Given the description of an element on the screen output the (x, y) to click on. 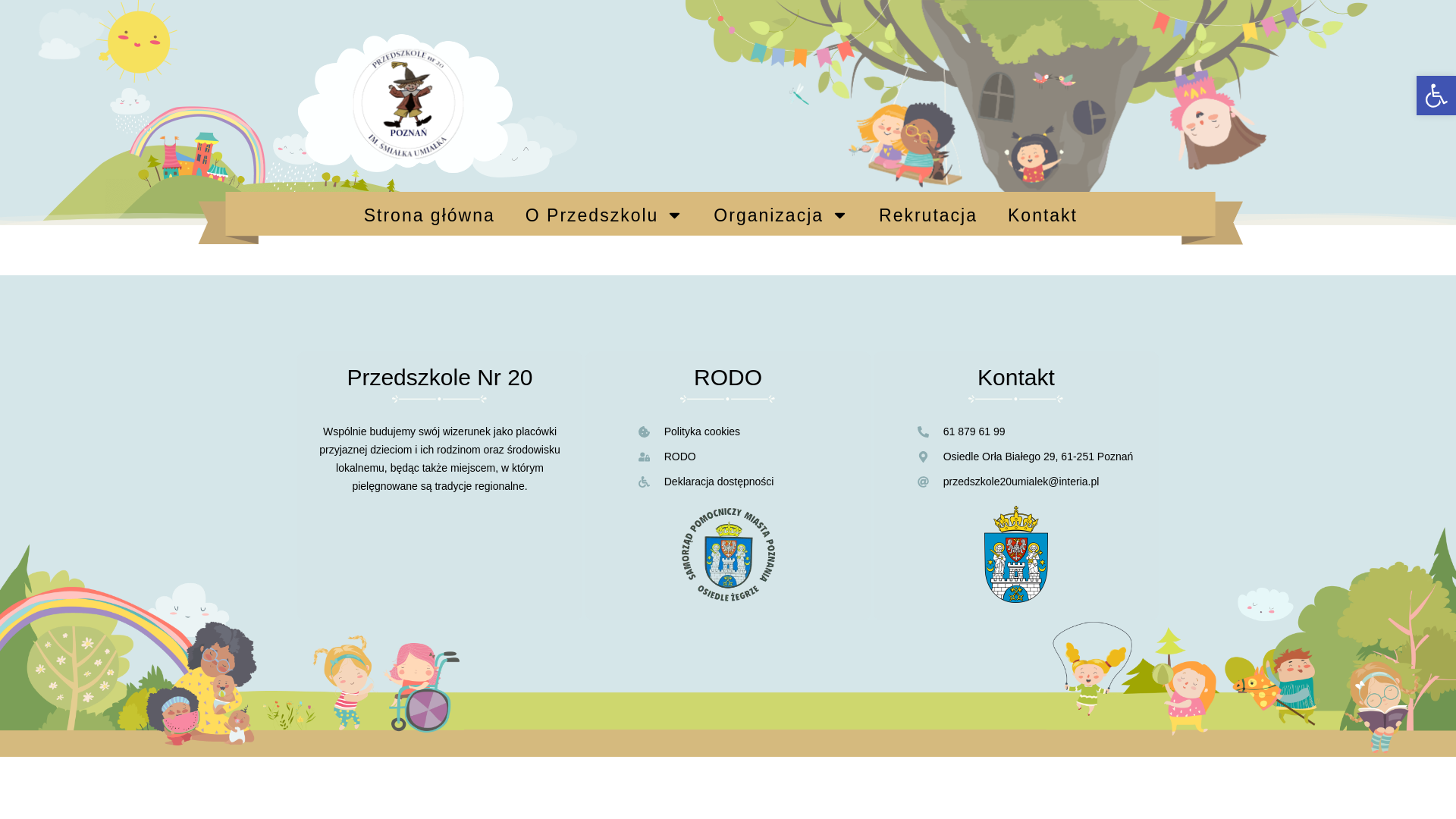
O Przedszkolu (604, 214)
Organizacja (780, 214)
Rekrutacja (927, 214)
Kontakt (1042, 214)
